Given the description of an element on the screen output the (x, y) to click on. 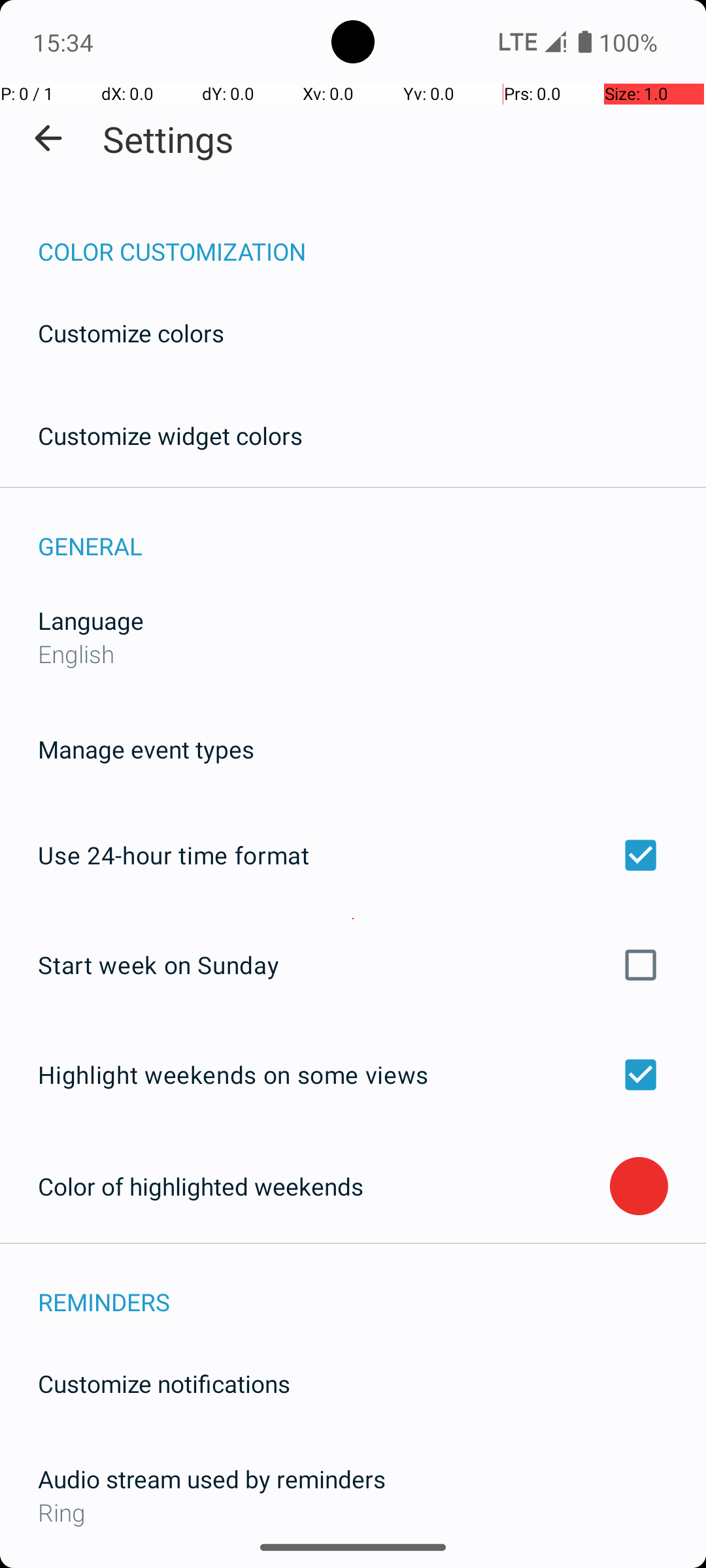
Color of highlighted weekends Element type: android.widget.TextView (323, 1186)
